Given the description of an element on the screen output the (x, y) to click on. 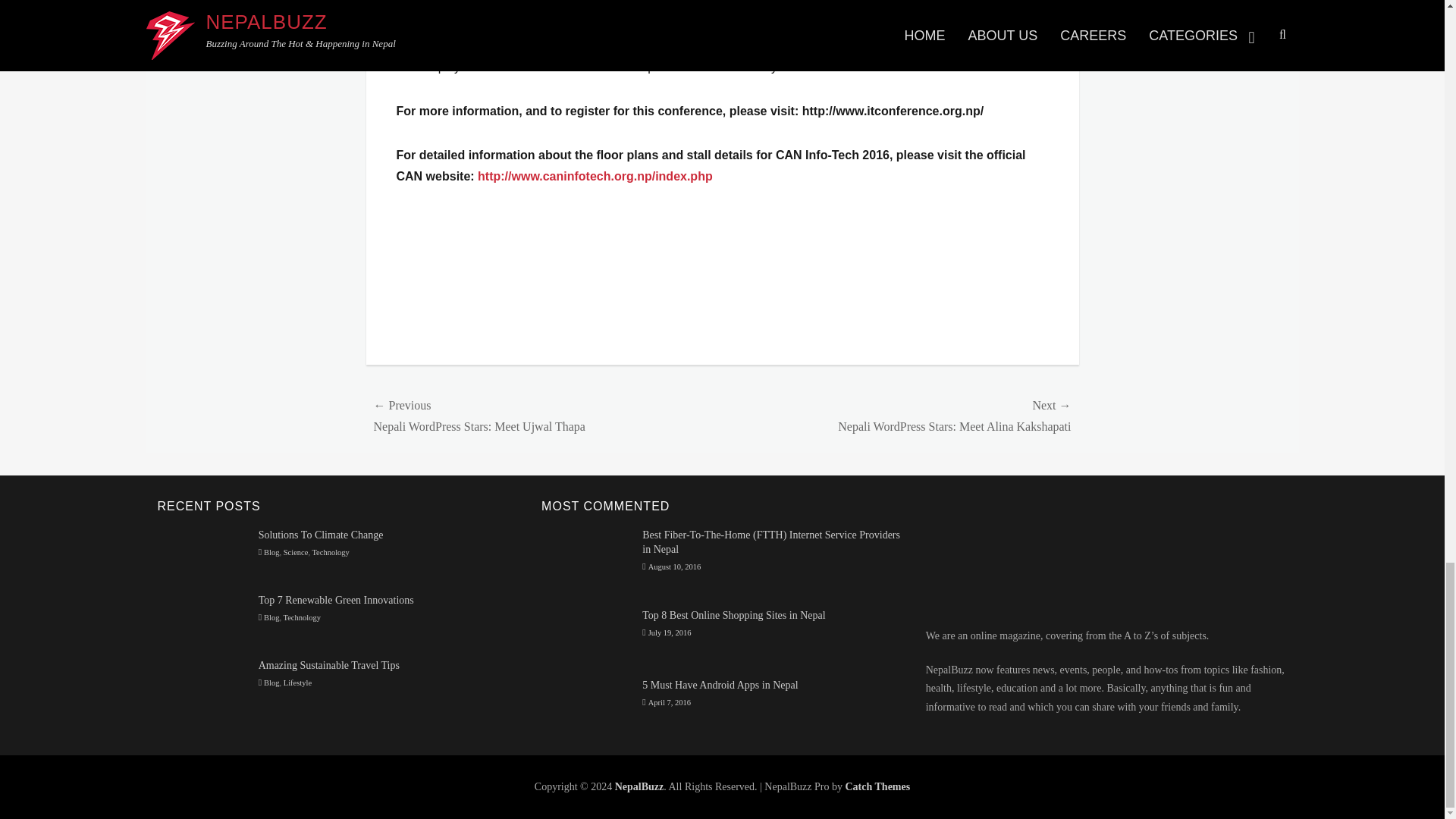
Top 8 Best Online Shopping Sites in Nepal (586, 636)
Solutions To Climate Change (202, 552)
Solutions To Climate Change (321, 534)
5 Must Have Android Apps in Nepal (719, 685)
5 Must Have Android Apps in Nepal (586, 701)
Top 7 Renewable Green Innovations (202, 617)
Top 7 Renewable Green Innovations (336, 600)
Top 8 Best Online Shopping Sites in Nepal (733, 614)
Amazing Sustainable Travel Tips (202, 682)
Amazing Sustainable Travel Tips (328, 665)
